Given the description of an element on the screen output the (x, y) to click on. 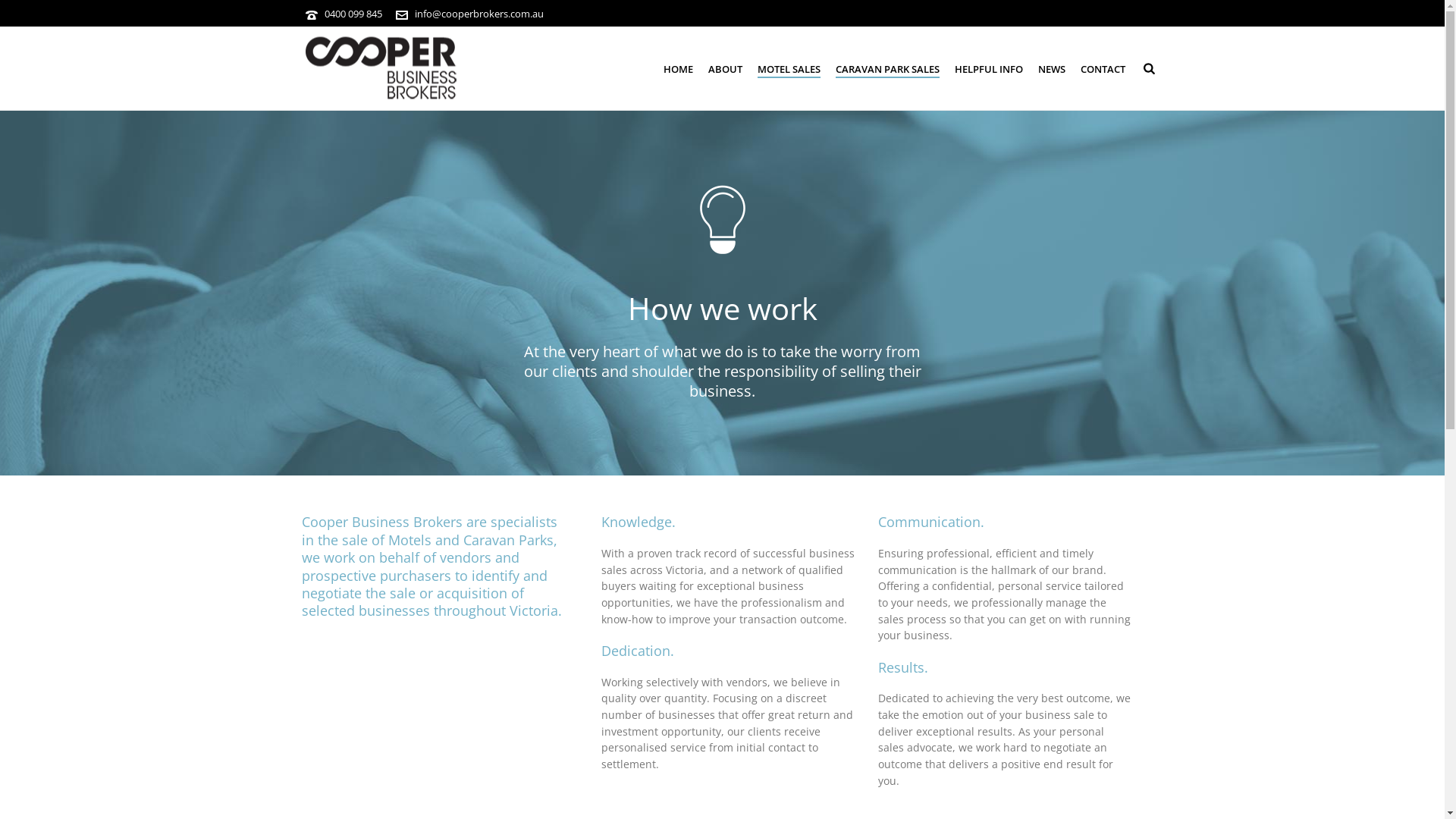
CONTACT Element type: text (1102, 68)
0400 099 845 Element type: text (353, 13)
HOME Element type: text (677, 68)
MOTEL SALES Element type: text (788, 68)
HELPFUL INFO Element type: text (988, 68)
info@cooperbrokers.com.au Element type: text (478, 13)
CARAVAN PARK SALES Element type: text (887, 68)
NEWS Element type: text (1051, 68)
ABOUT Element type: text (724, 68)
Sell your business, motel or caravan park Element type: hover (380, 67)
